Given the description of an element on the screen output the (x, y) to click on. 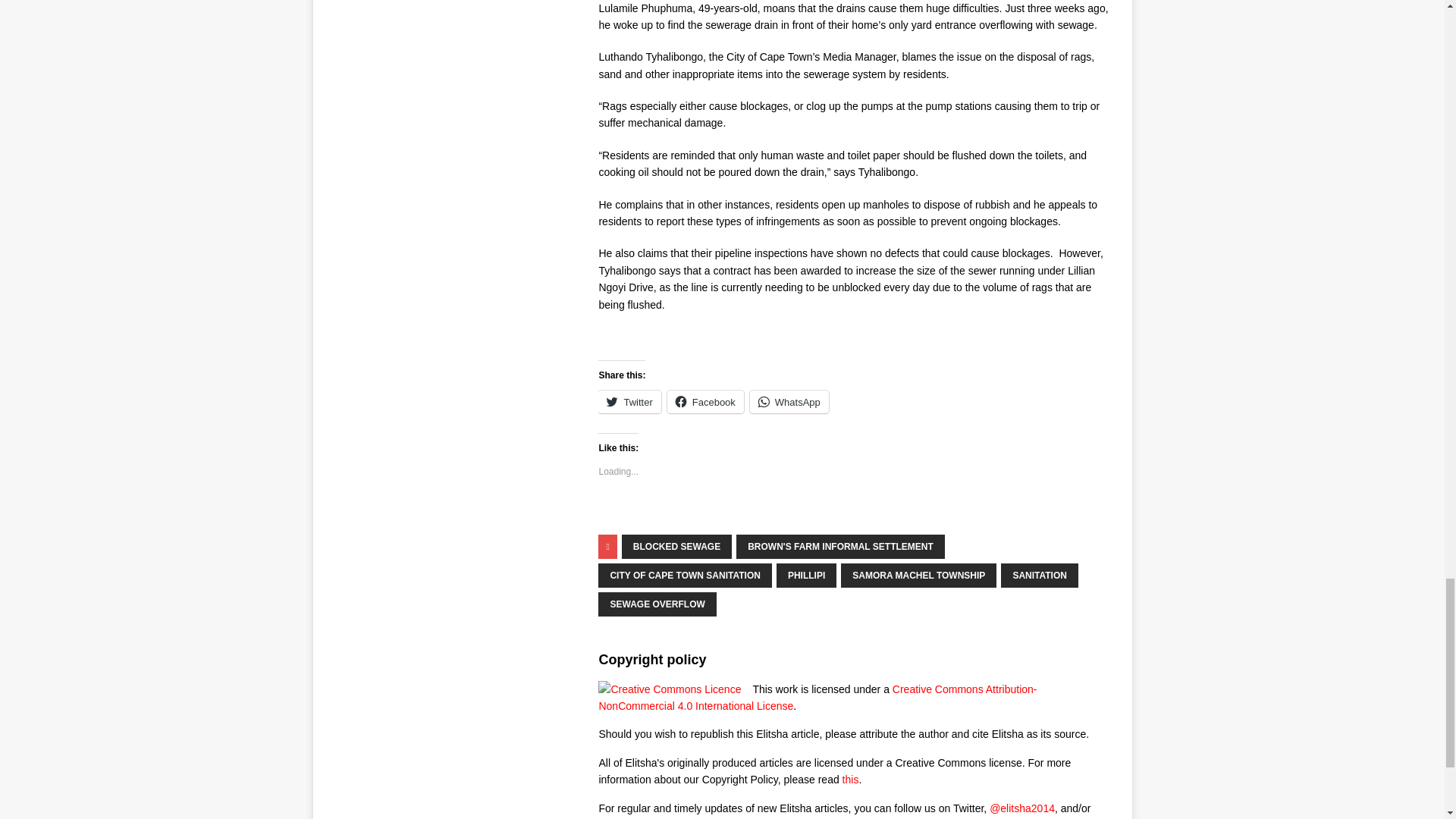
BLOCKED SEWAGE (676, 546)
BROWN'S FARM INFORMAL SETTLEMENT (840, 546)
CITY OF CAPE TOWN SANITATION (684, 575)
Facebook (705, 401)
Twitter (629, 401)
Click to share on Facebook (705, 401)
Click to share on Twitter (629, 401)
SEWAGE OVERFLOW (657, 604)
WhatsApp (788, 401)
PHILLIPI (805, 575)
Click to share on WhatsApp (788, 401)
SAMORA MACHEL TOWNSHIP (918, 575)
SANITATION (1039, 575)
